Given the description of an element on the screen output the (x, y) to click on. 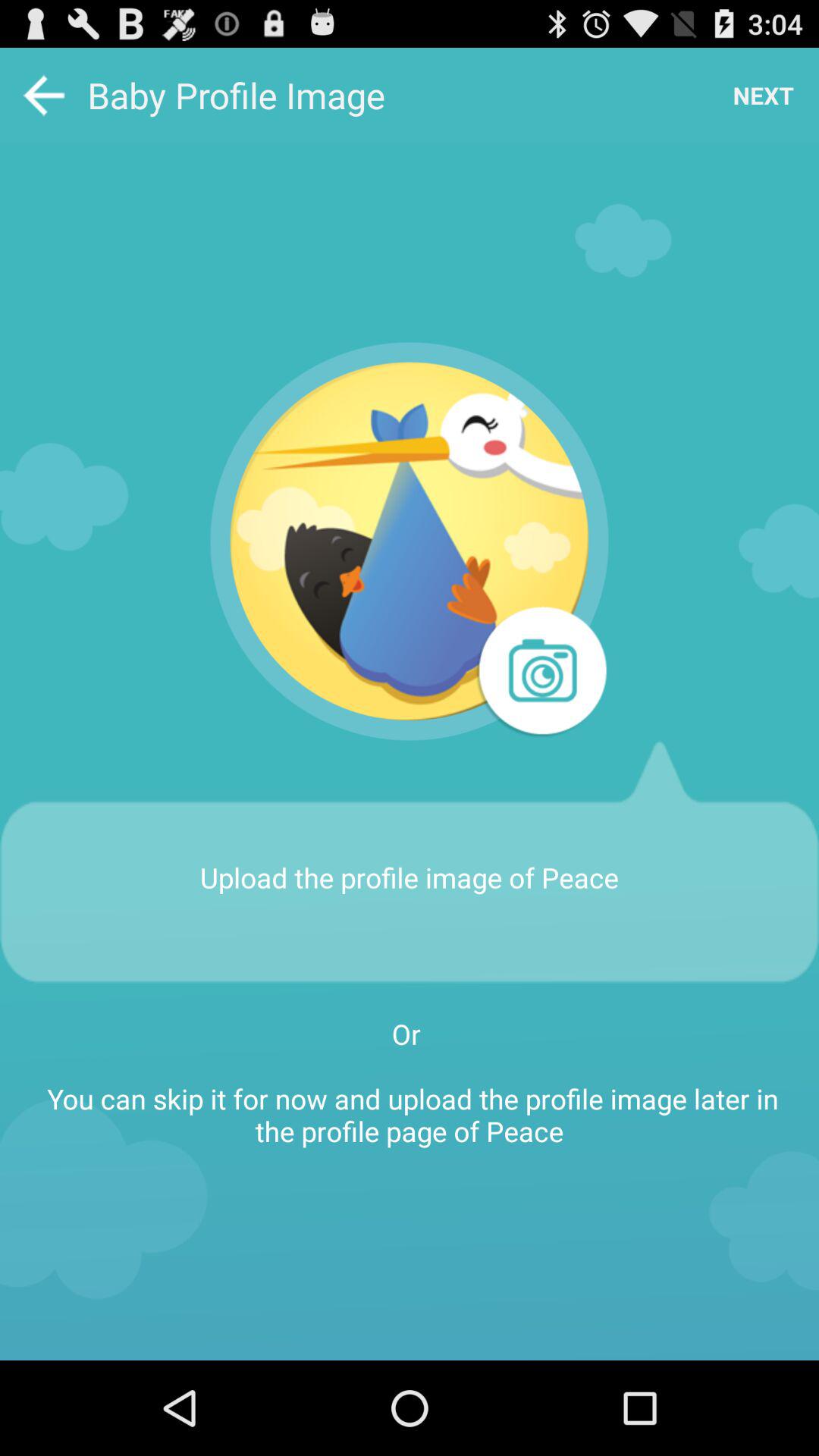
click the app above the upload the profile item (540, 672)
